Given the description of an element on the screen output the (x, y) to click on. 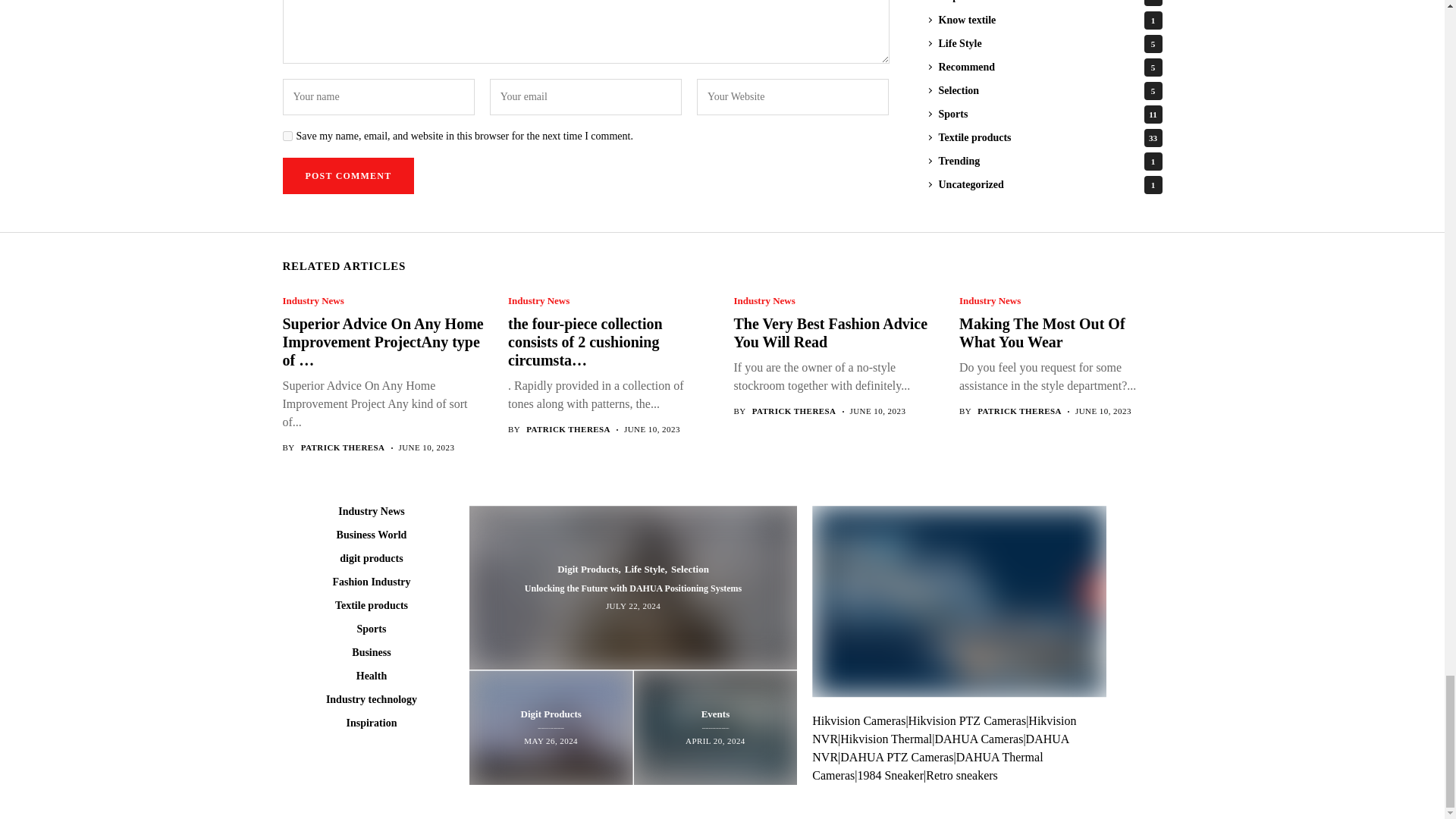
Posts by Patrick Theresa (567, 429)
Post Comment (347, 176)
Posts by Patrick Theresa (1018, 411)
yes (287, 135)
Posts by Patrick Theresa (343, 447)
Posts by Patrick Theresa (793, 411)
